Given the description of an element on the screen output the (x, y) to click on. 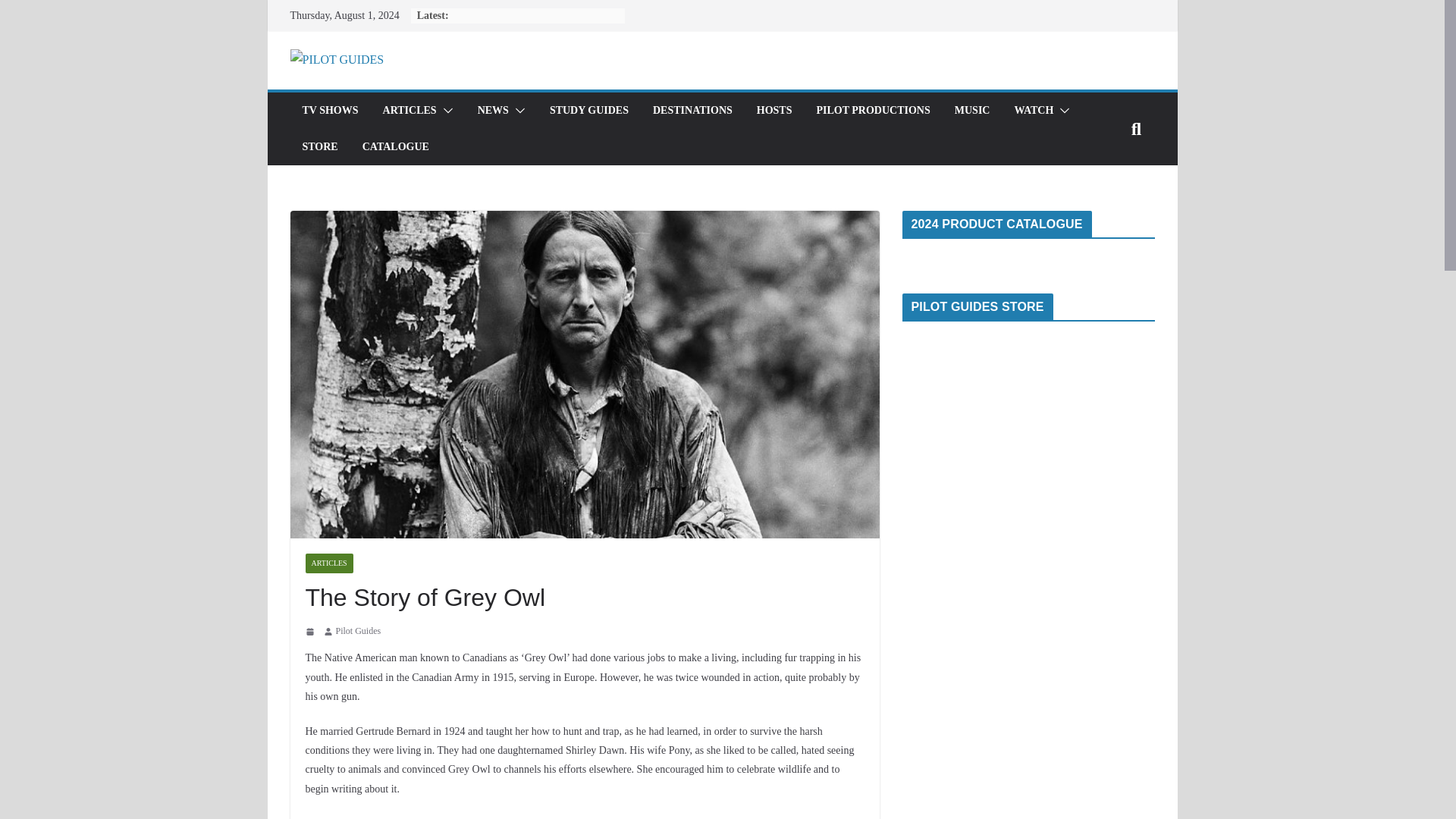
STORE (319, 147)
NEWS (492, 110)
Pilot Guides (357, 631)
PILOT PRODUCTIONS (872, 110)
ARTICLES (328, 563)
TV SHOWS (329, 110)
Pilot Guides (357, 631)
CATALOGUE (395, 147)
STUDY GUIDES (589, 110)
DESTINATIONS (692, 110)
HOSTS (774, 110)
MUSIC (972, 110)
ARTICLES (409, 110)
WATCH (1032, 110)
